Given the description of an element on the screen output the (x, y) to click on. 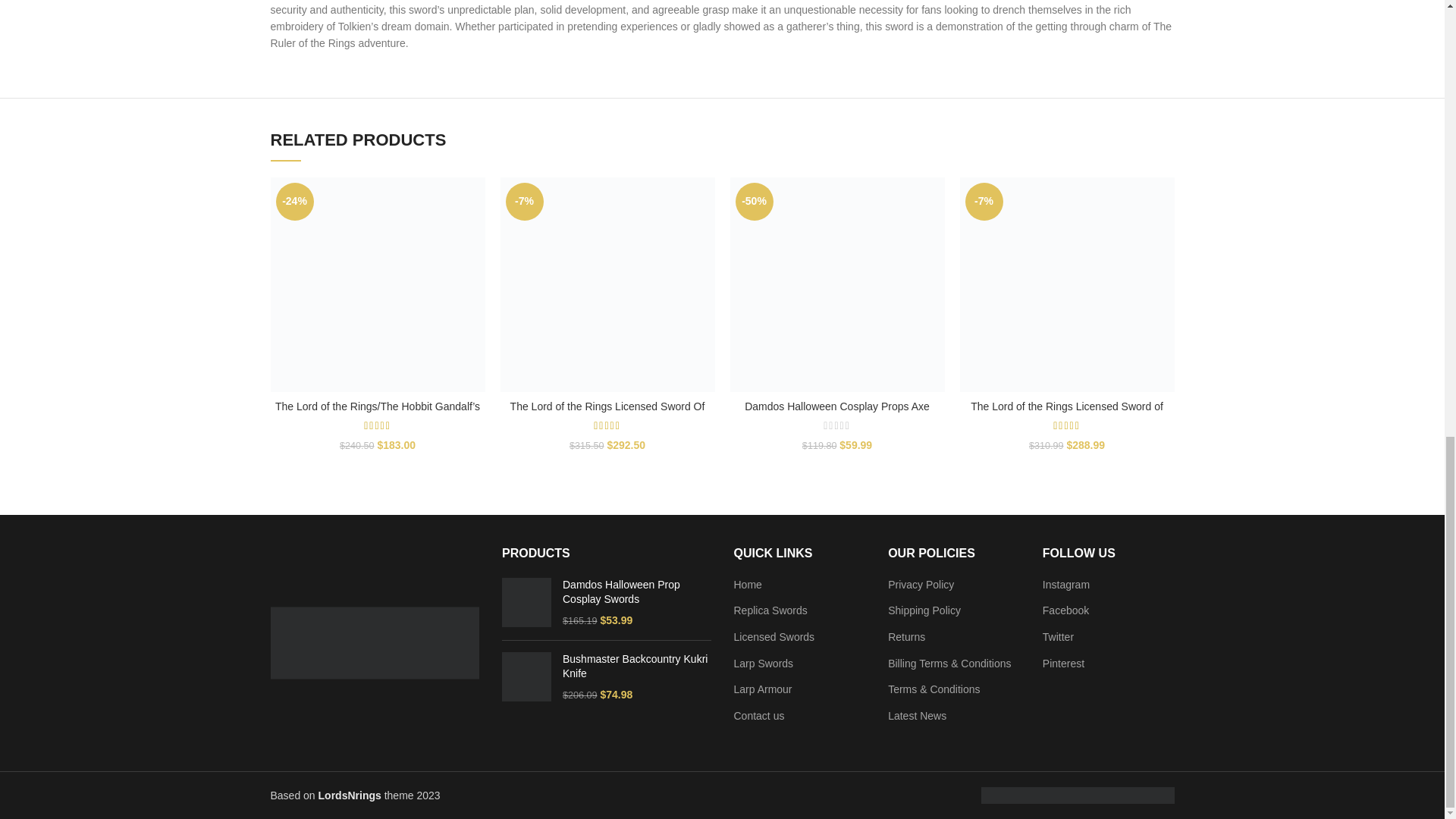
Damdos Halloween Prop Cosplay Swords (636, 592)
Bushmaster Backcountry Kukri Knife (526, 676)
Bushmaster Backcountry Kukri Knife (636, 666)
Damdos Halloween Prop Cosplay Swords (526, 603)
